Given the description of an element on the screen output the (x, y) to click on. 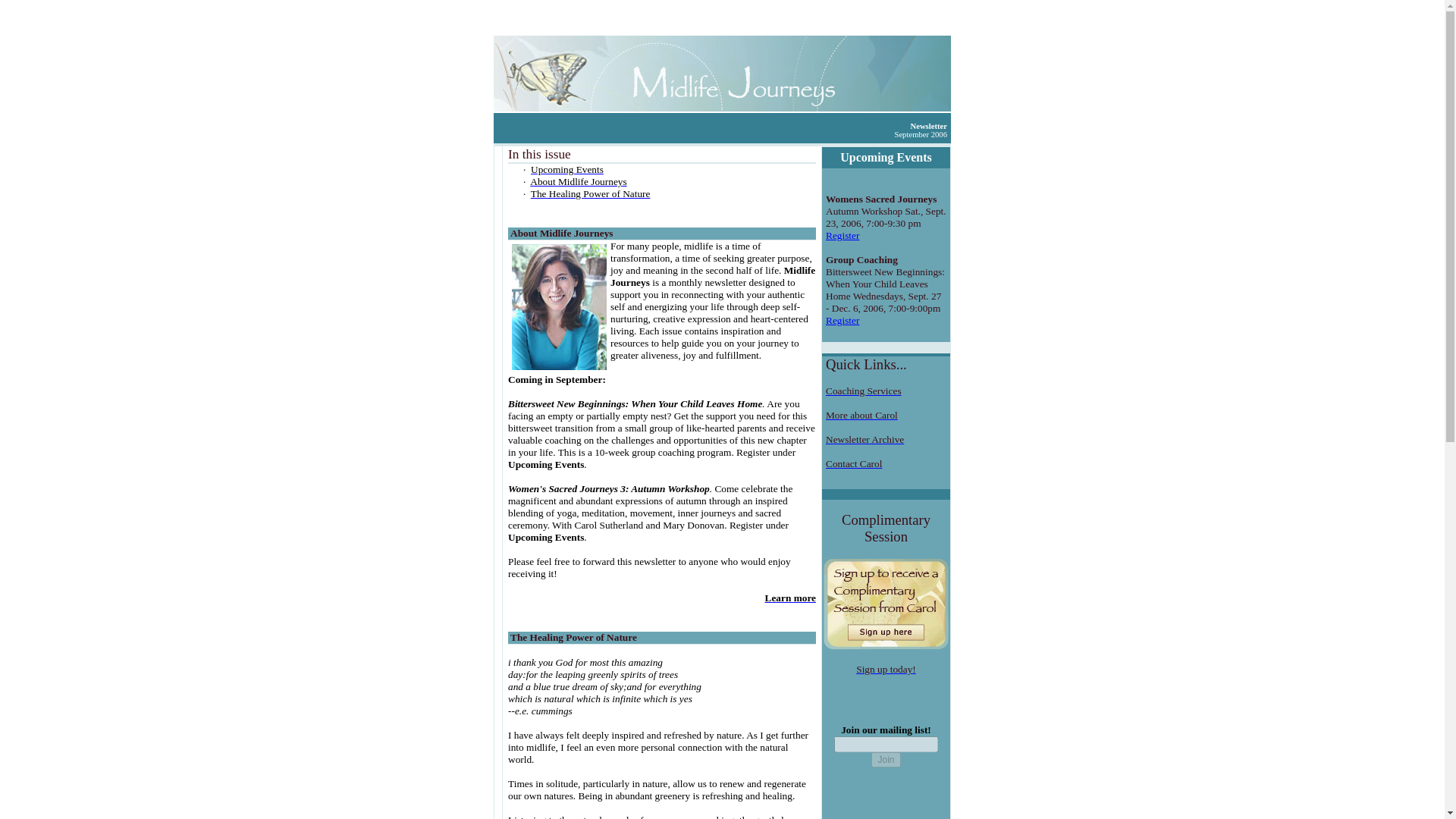
Sign up today! (885, 668)
About Midlife Journeys (577, 181)
Register (842, 235)
Coaching Services (863, 390)
The Healing Power of Nature (590, 193)
Contact Carol (853, 463)
Newsletter Archive (864, 439)
Learn more (789, 597)
Register (842, 319)
Join (884, 759)
Upcoming Events (885, 156)
More about Carol (861, 414)
Upcoming Events (567, 169)
Join (884, 759)
